Given the description of an element on the screen output the (x, y) to click on. 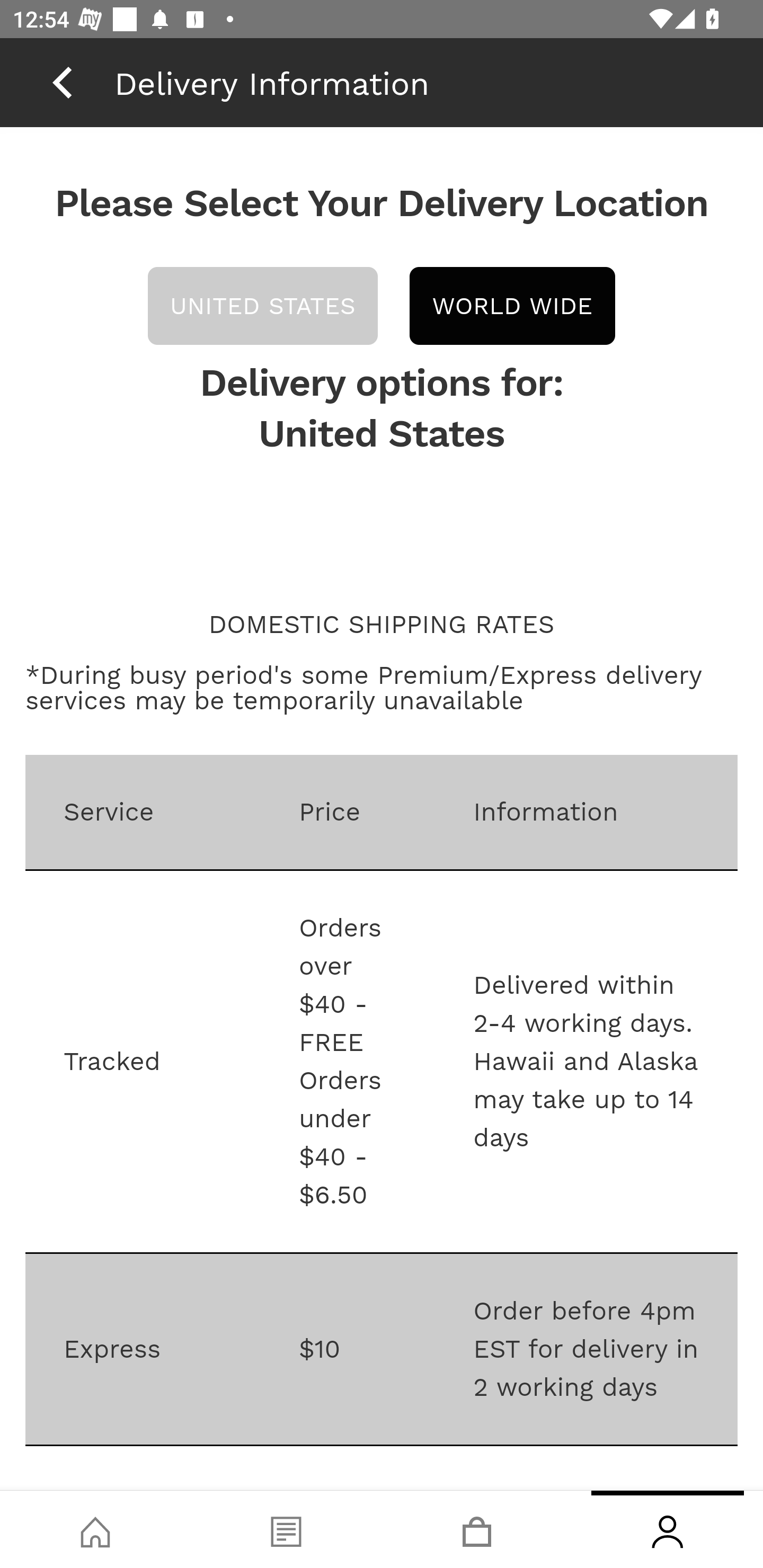
back (61, 82)
WORLD WIDE (511, 305)
Shop, tab, 1 of 4 (95, 1529)
Blog, tab, 2 of 4 (285, 1529)
Basket, tab, 3 of 4 (476, 1529)
Account, tab, 4 of 4 (667, 1529)
